Given the description of an element on the screen output the (x, y) to click on. 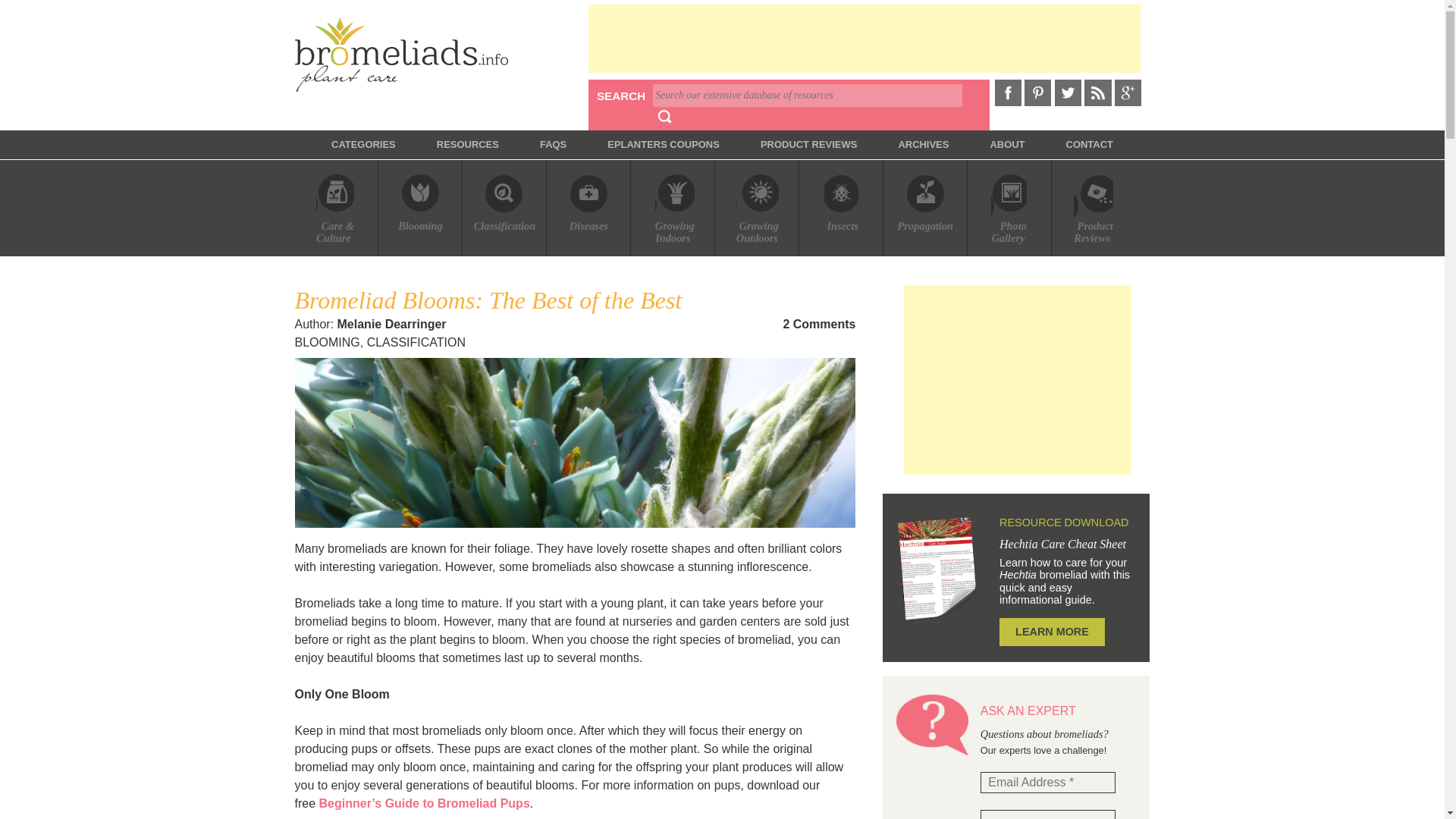
Advertisement (864, 38)
Search (663, 116)
FAQS (553, 143)
Search (663, 116)
EPLANTERS COUPONS (663, 143)
PRODUCT REVIEWS (808, 143)
CATEGORIES (363, 143)
Advertisement (1017, 380)
RESOURCES (467, 143)
ARCHIVES (923, 143)
